Given the description of an element on the screen output the (x, y) to click on. 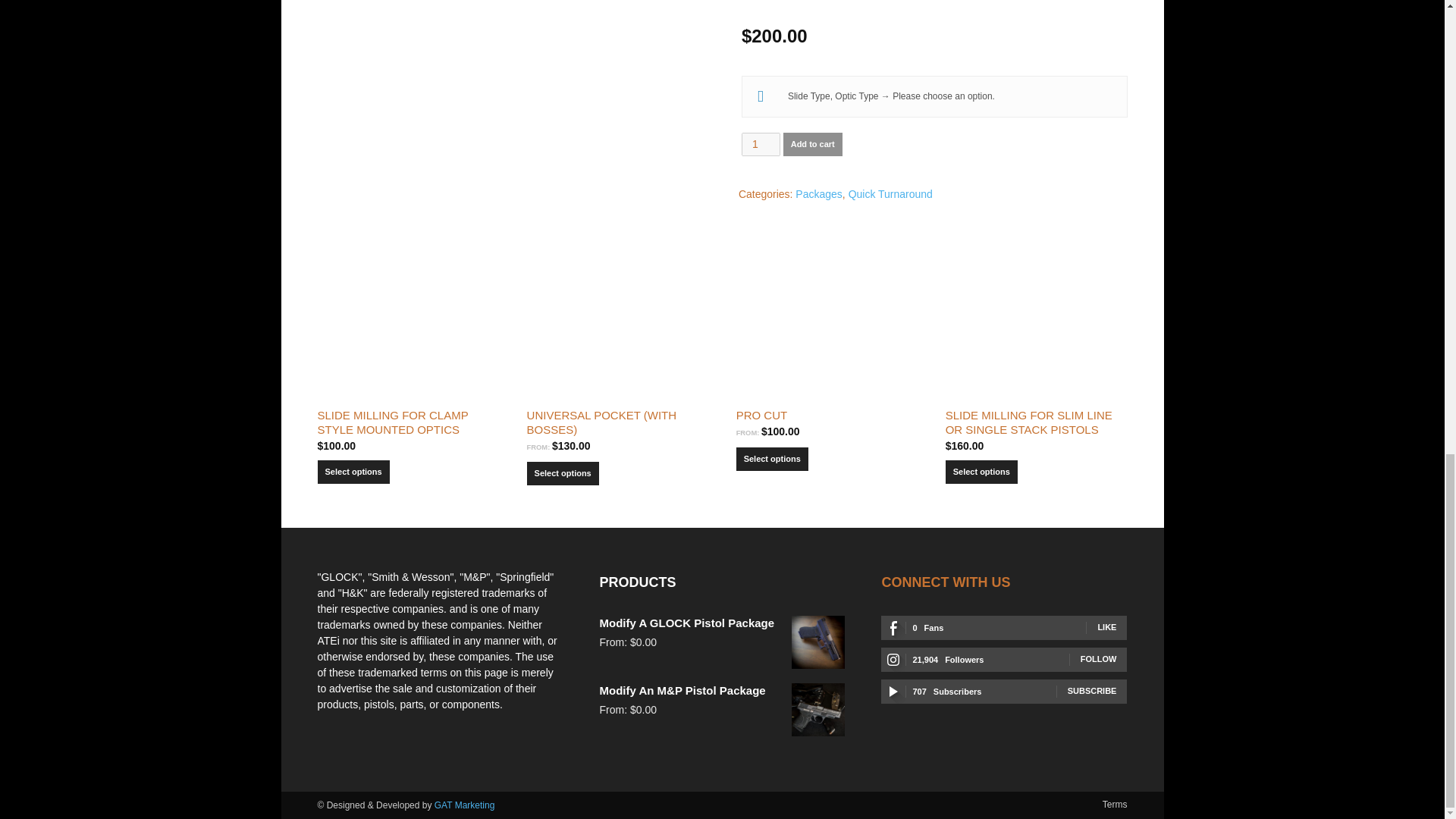
1 (760, 144)
